Given the description of an element on the screen output the (x, y) to click on. 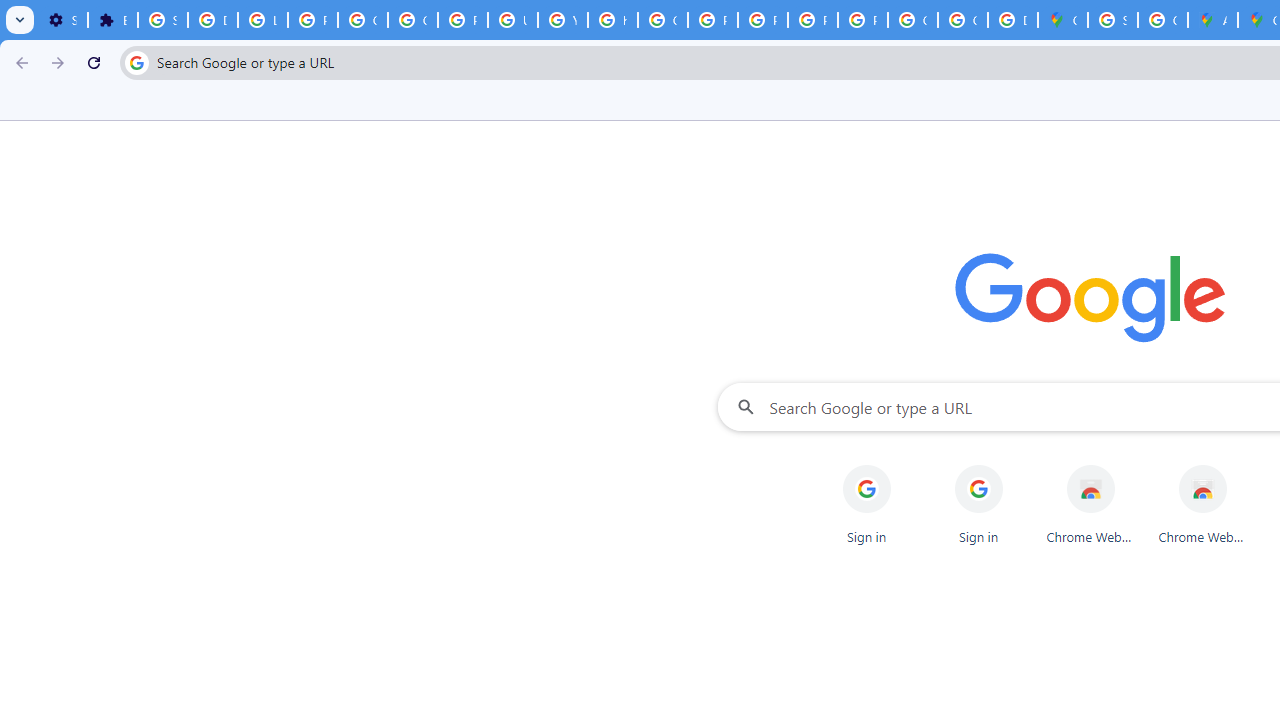
Learn how to find your photos - Google Photos Help (262, 20)
